Given the description of an element on the screen output the (x, y) to click on. 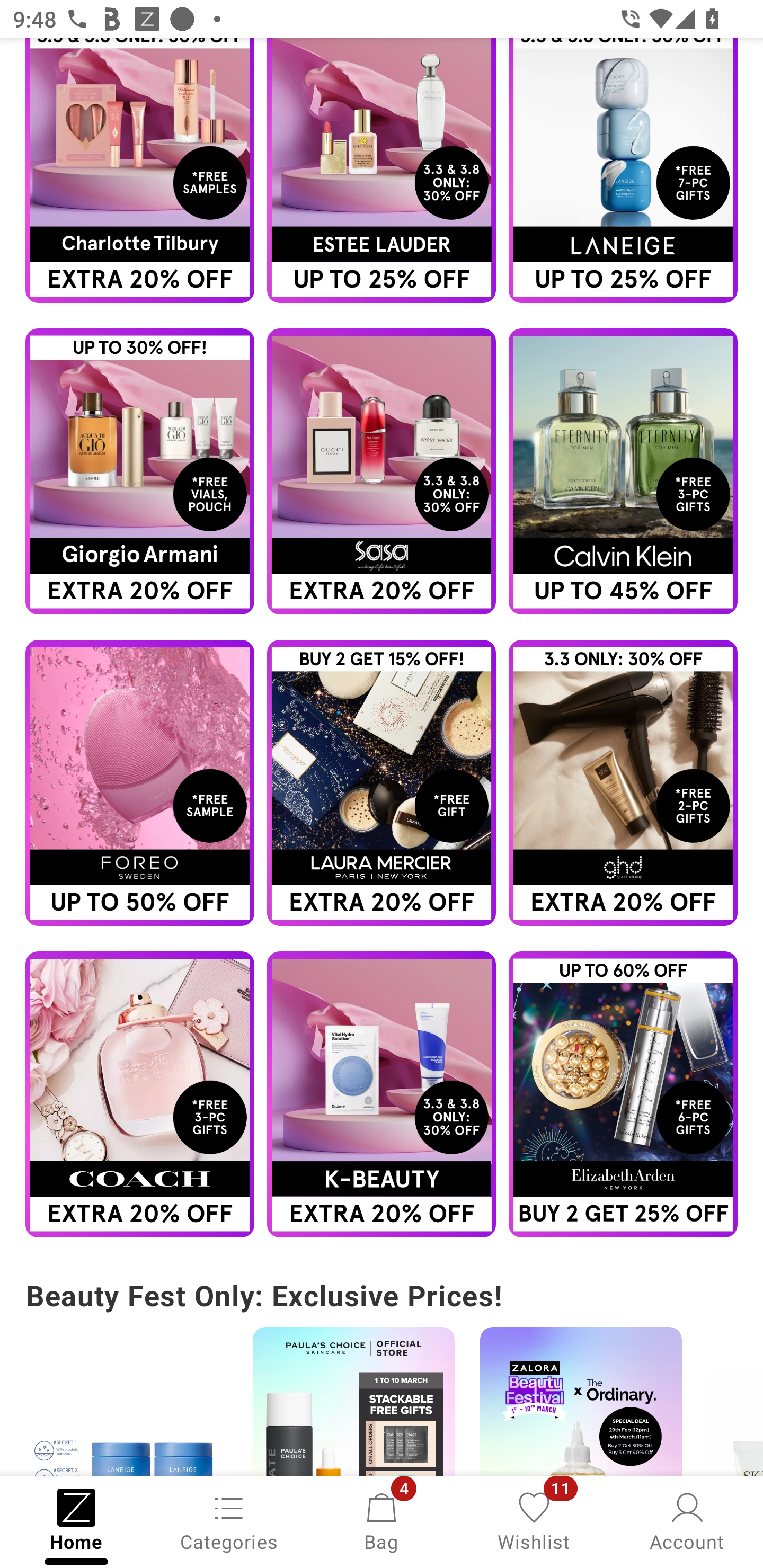
Campaign banner (139, 169)
Campaign banner (381, 169)
Campaign banner (622, 169)
Campaign banner (139, 470)
Campaign banner (381, 470)
Campaign banner (622, 470)
Campaign banner (139, 782)
Campaign banner (381, 782)
Campaign banner (622, 782)
Campaign banner (139, 1094)
Campaign banner (381, 1094)
Campaign banner (622, 1094)
Campaign banner (126, 1400)
Campaign banner (353, 1400)
Campaign banner (580, 1400)
Categories (228, 1519)
Bag, 4 new notifications Bag (381, 1519)
Wishlist, 11 new notifications Wishlist (533, 1519)
Account (686, 1519)
